Given the description of an element on the screen output the (x, y) to click on. 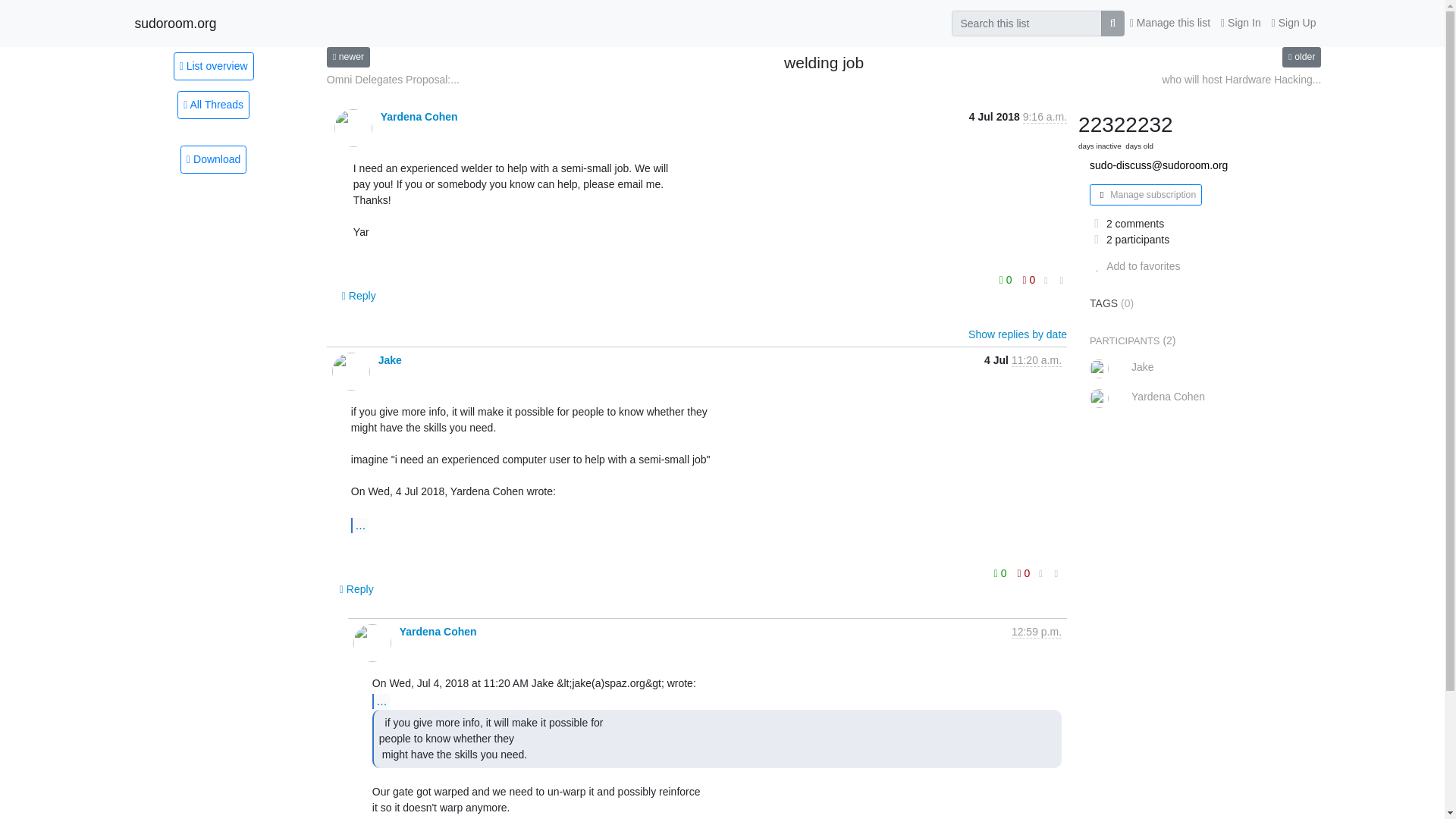
Sign In (1240, 22)
Sign Up (1294, 22)
See the profile for Jake (389, 359)
newer (347, 56)
who will host Hardware Hacking Tuesday tonight? (1240, 79)
Sign in to reply online (356, 588)
Omni Delegates Proposal:... (393, 79)
List overview (213, 65)
who will host Hardware Hacking... (1240, 79)
Manage this list (1169, 22)
